Given the description of an element on the screen output the (x, y) to click on. 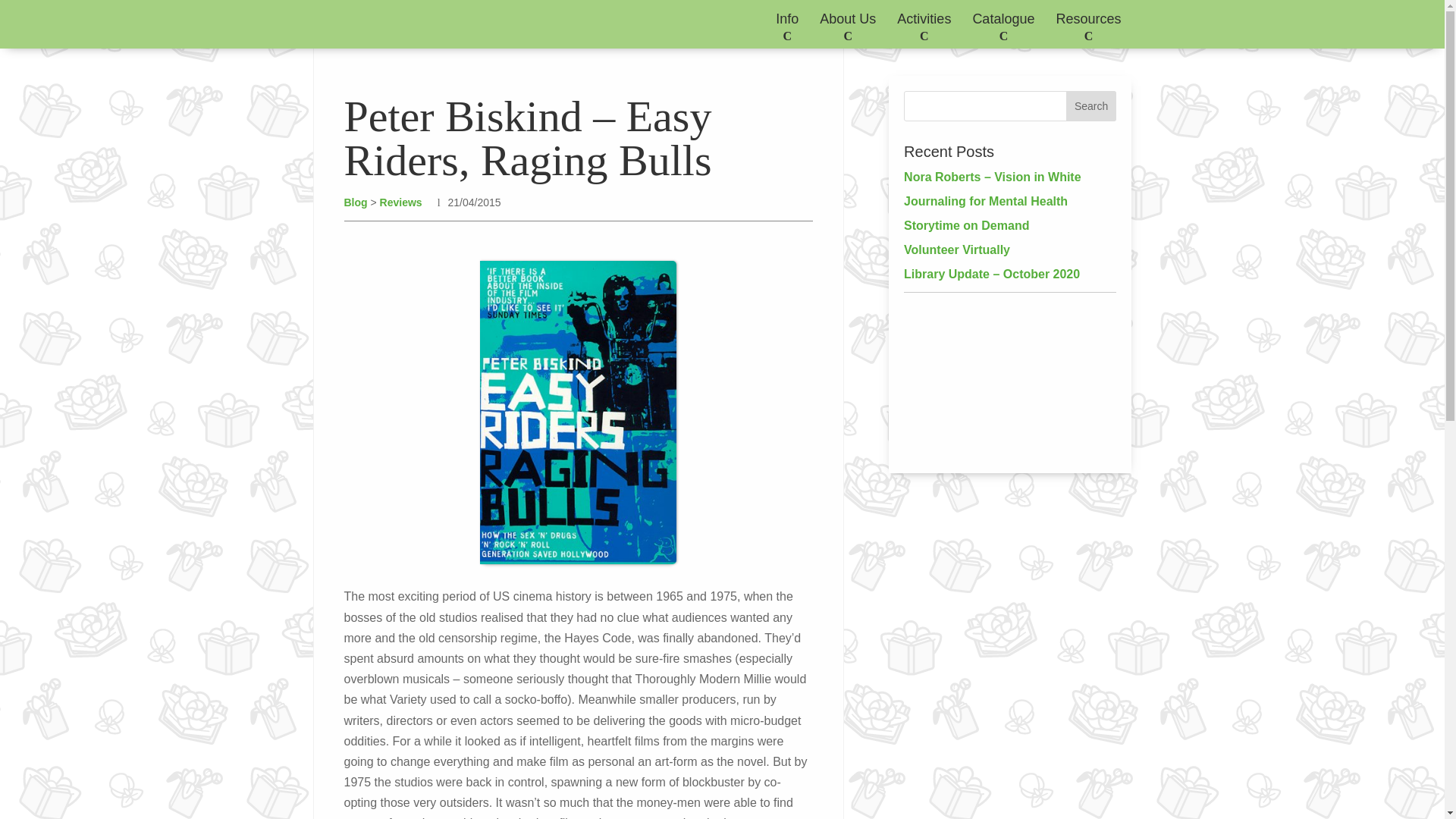
Blog (325, 144)
Resources (1088, 23)
Activities (923, 23)
About Us (847, 23)
Reviews (370, 144)
Catalogue (1002, 23)
Info (787, 23)
